Given the description of an element on the screen output the (x, y) to click on. 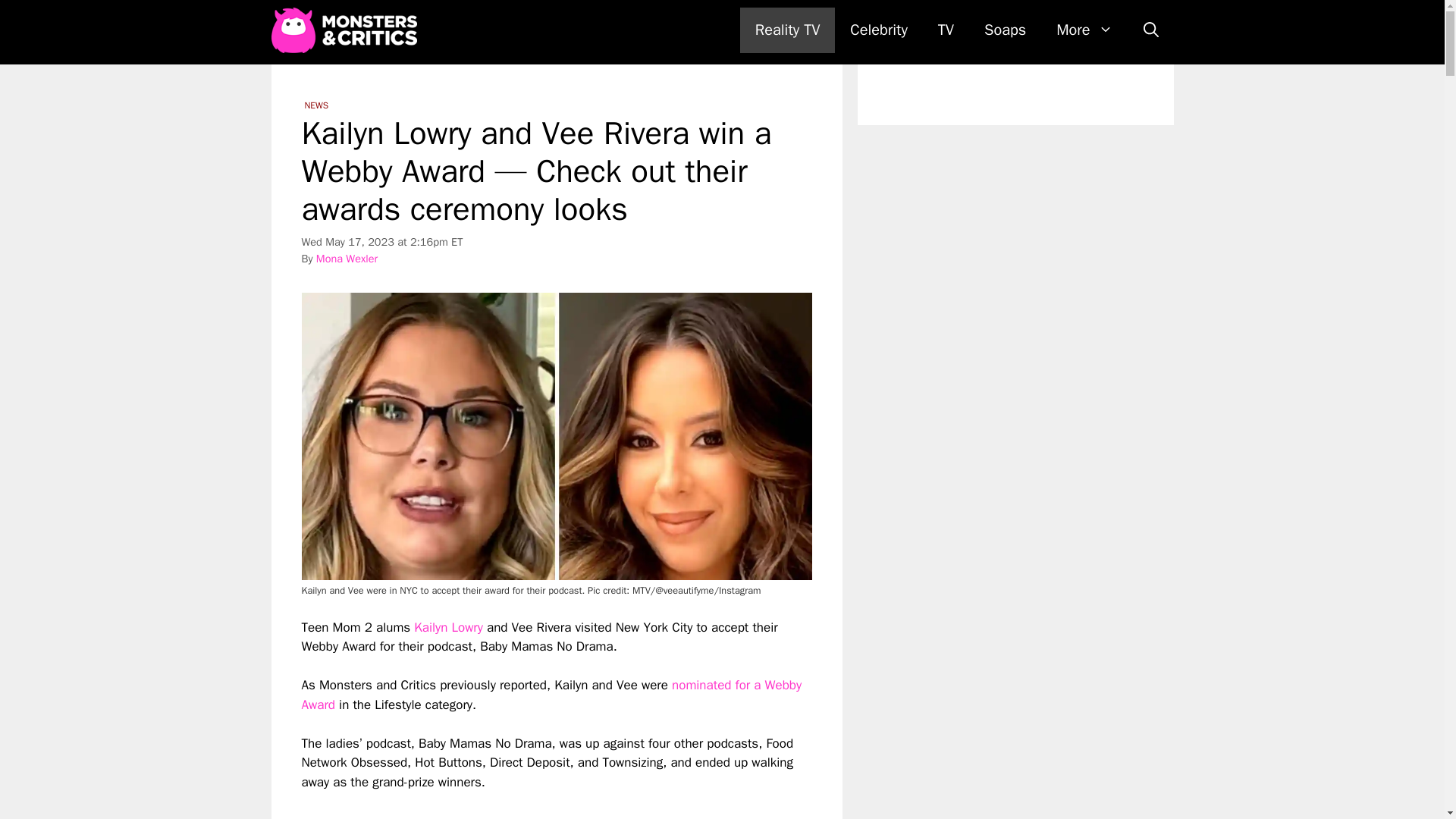
Celebrity (877, 30)
Kailyn Lowry (448, 627)
View all posts by Mona Wexler (346, 258)
Monsters and Critics (347, 30)
YouTube video player (513, 805)
Monsters and Critics (343, 30)
More (1083, 30)
Reality TV (787, 30)
nominated for a Webby Award (551, 694)
Mona Wexler (346, 258)
Soaps (1005, 30)
TV (946, 30)
